Given the description of an element on the screen output the (x, y) to click on. 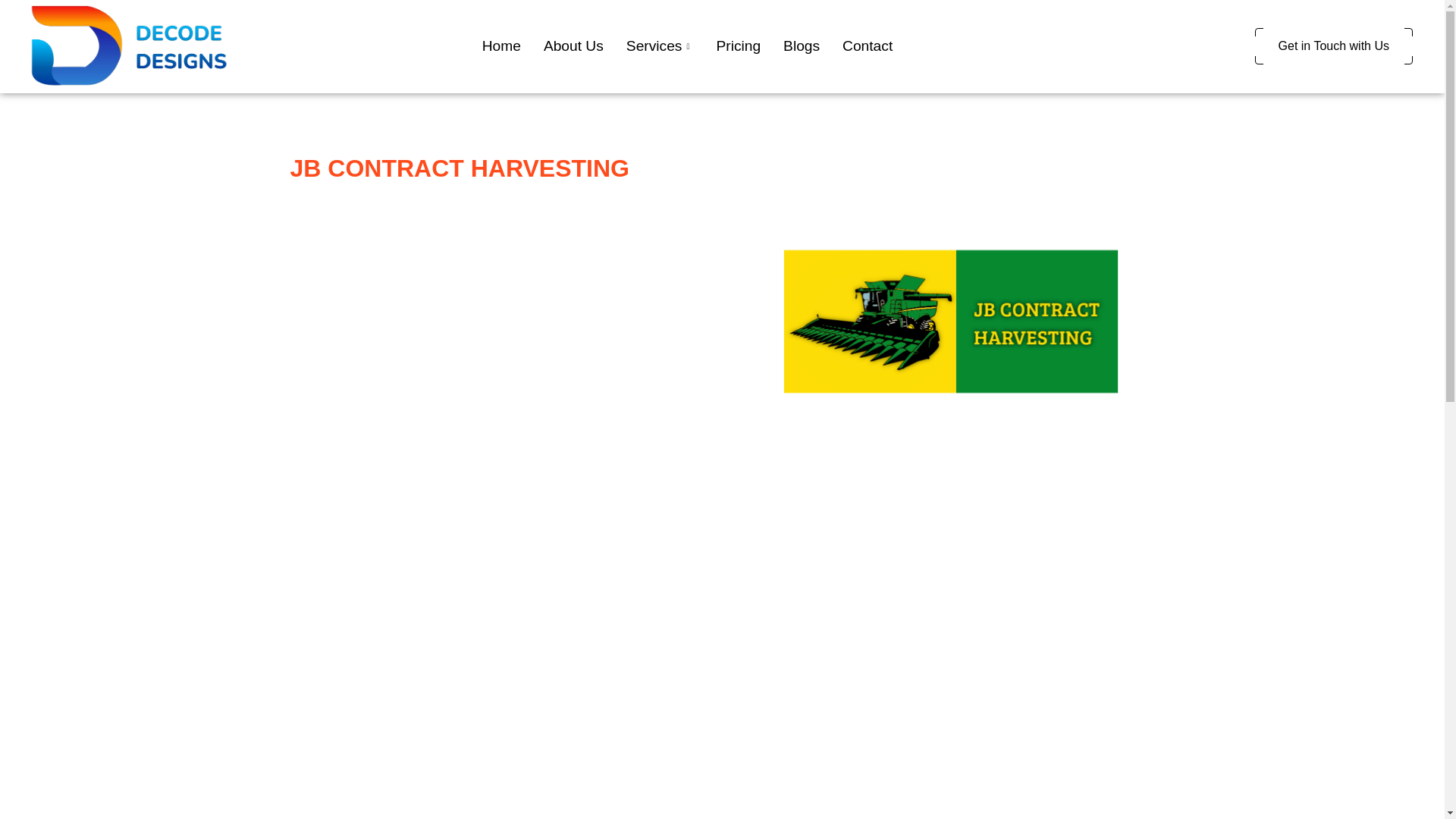
Contact (867, 45)
Services (659, 45)
Get in Touch with Us (1333, 45)
Pricing (737, 45)
Blogs (801, 45)
Home (501, 45)
About Us (573, 45)
